Given the description of an element on the screen output the (x, y) to click on. 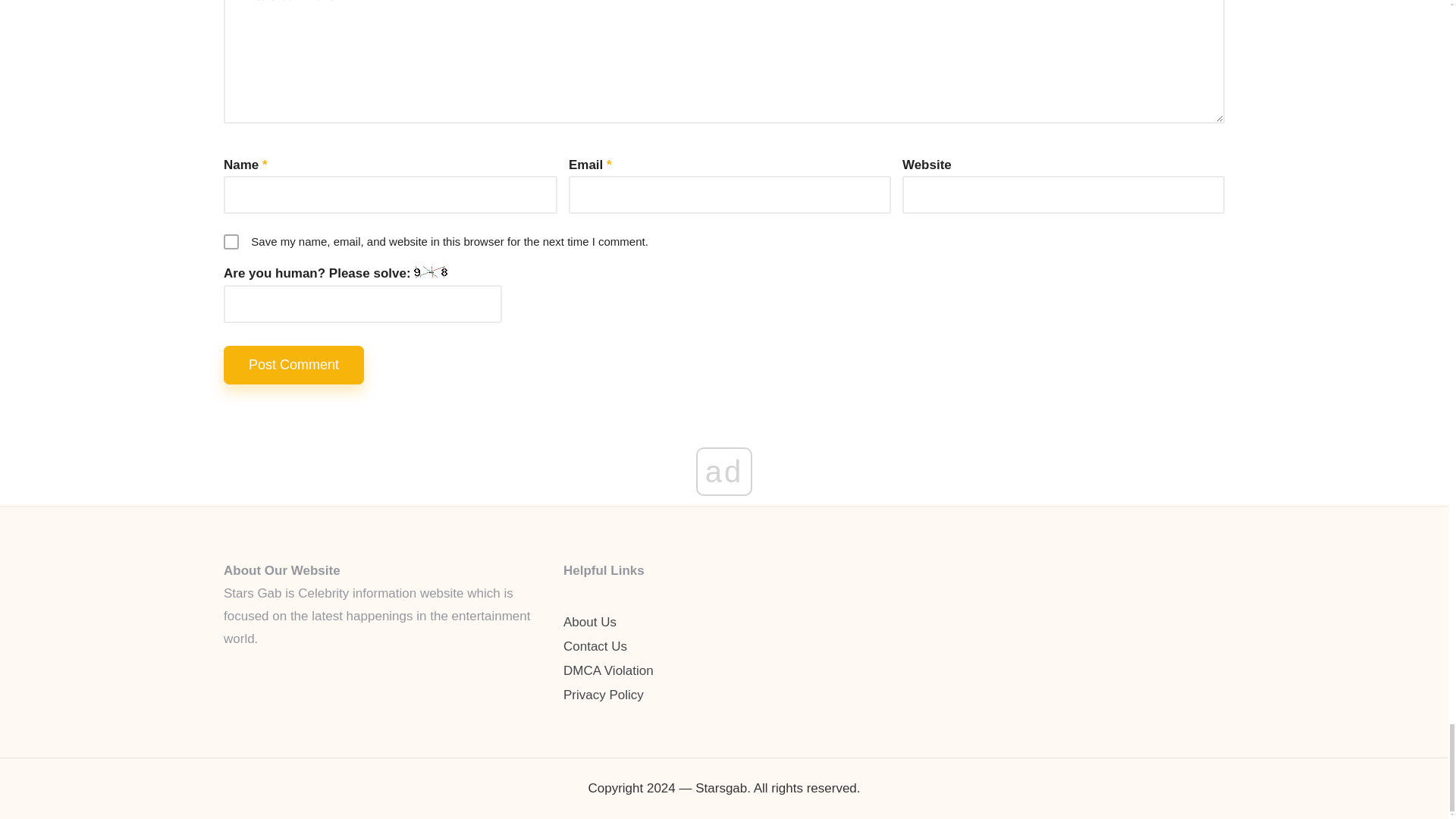
Post Comment (294, 364)
yes (231, 241)
